Given the description of an element on the screen output the (x, y) to click on. 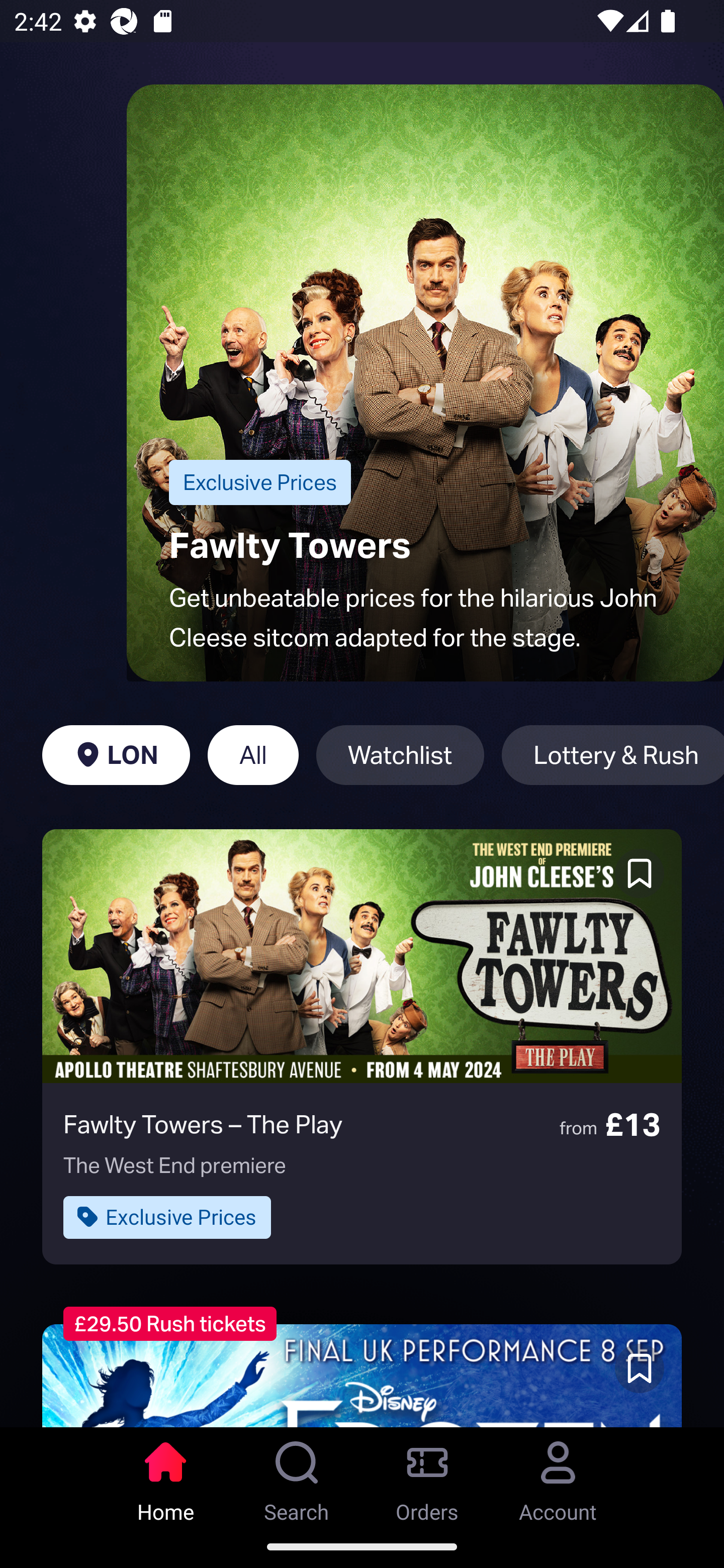
LON (115, 754)
All (252, 754)
Watchlist (400, 754)
Lottery & Rush (612, 754)
Search (296, 1475)
Orders (427, 1475)
Account (558, 1475)
